Given the description of an element on the screen output the (x, y) to click on. 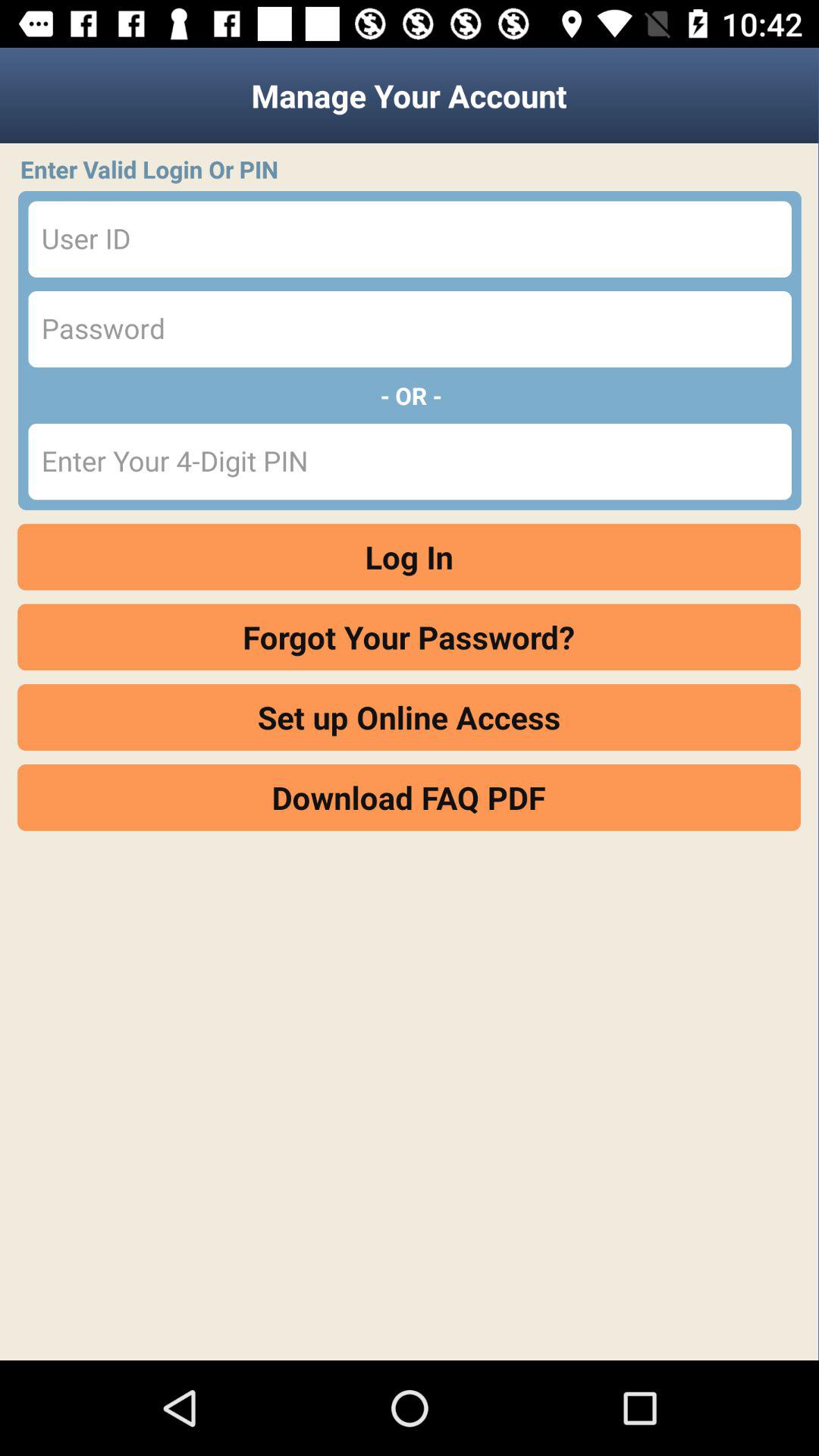
open item below the manage your account (414, 169)
